Given the description of an element on the screen output the (x, y) to click on. 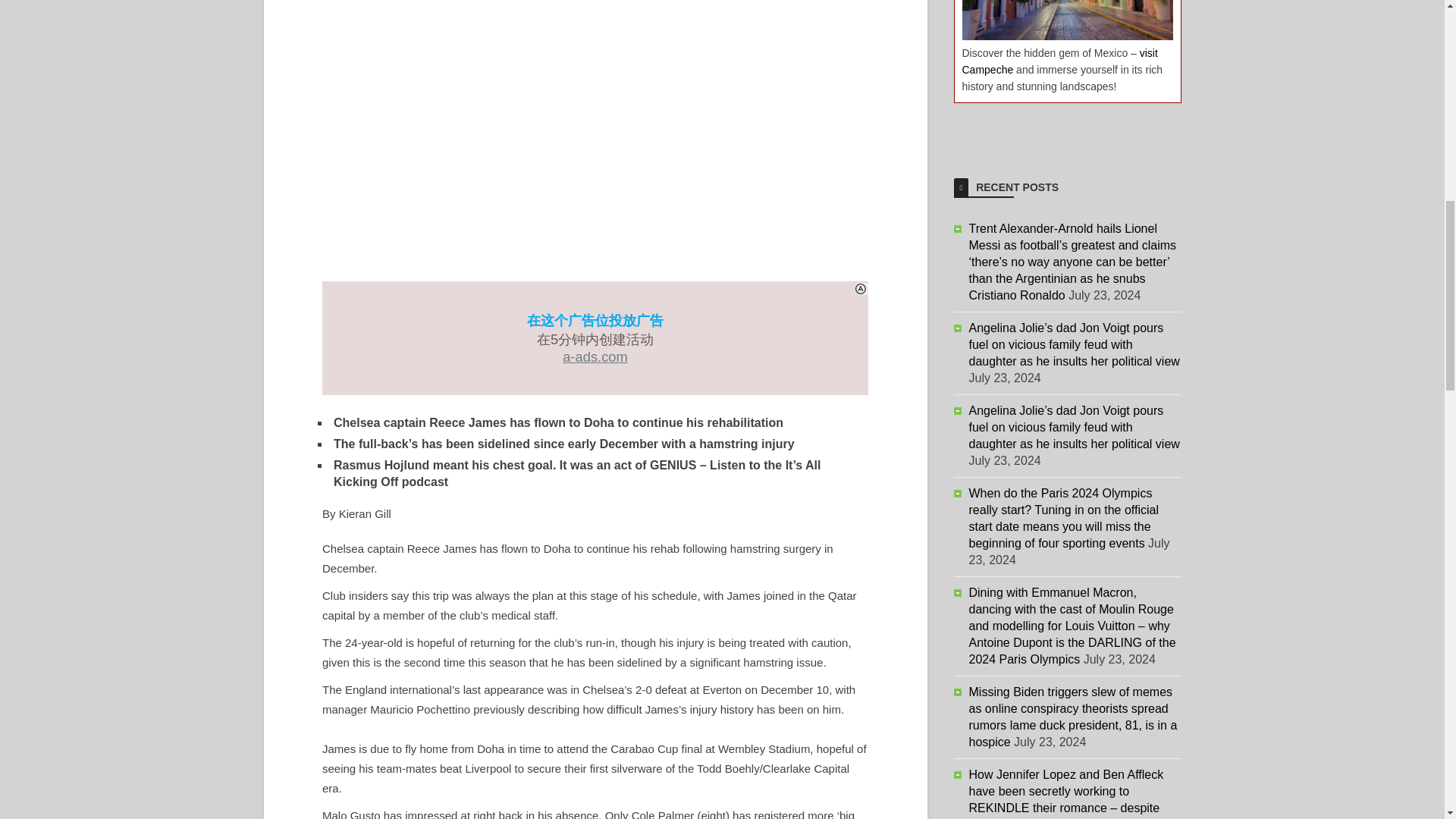
visit Campeche (1058, 61)
